Given the description of an element on the screen output the (x, y) to click on. 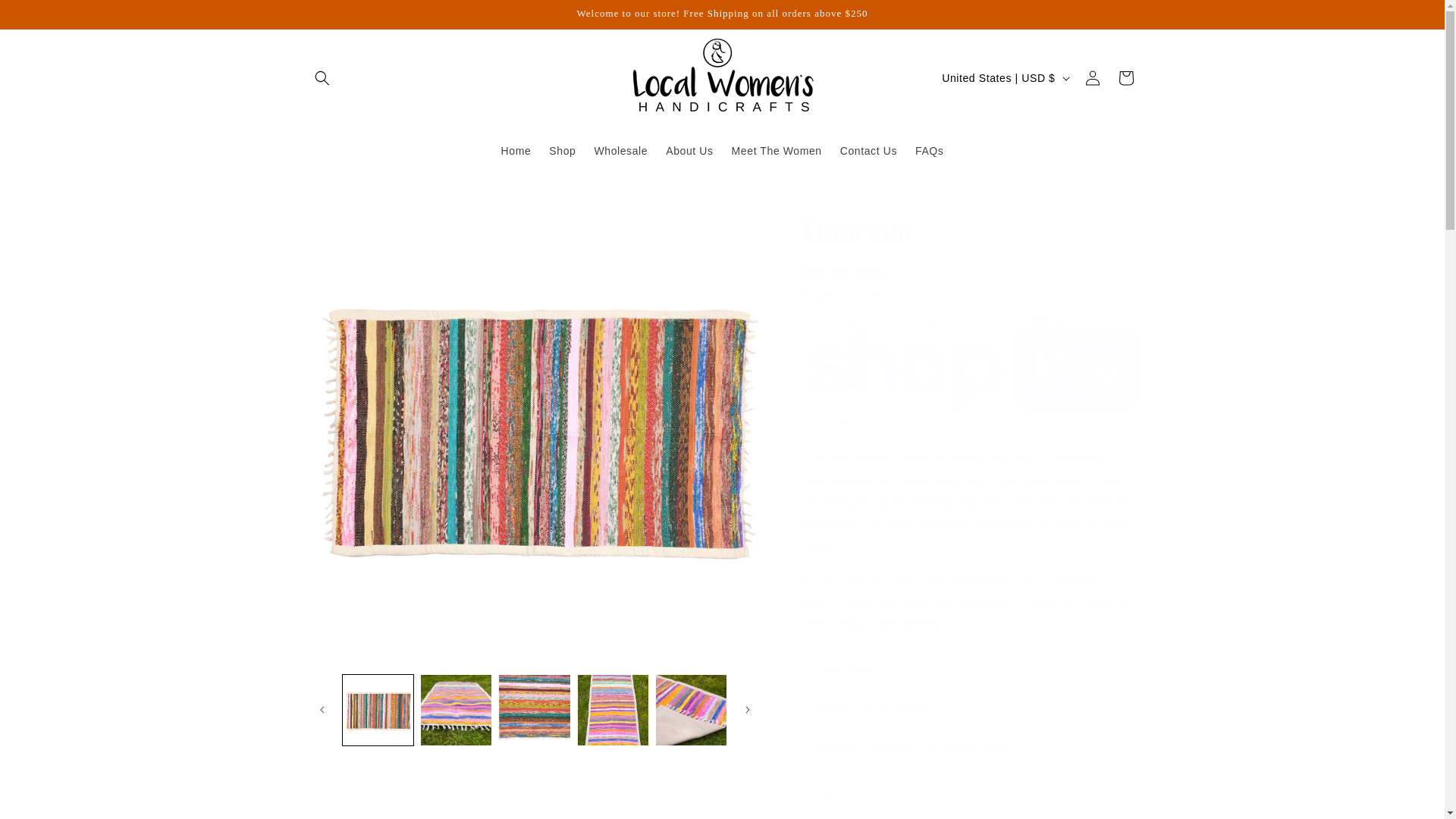
Log in (1091, 78)
Skip to content (45, 16)
Wholesale (620, 151)
Skip to product information (350, 213)
About Us (689, 151)
FAQs (928, 151)
Contact Us (868, 151)
1 (856, 812)
Cart (1124, 78)
